Given the description of an element on the screen output the (x, y) to click on. 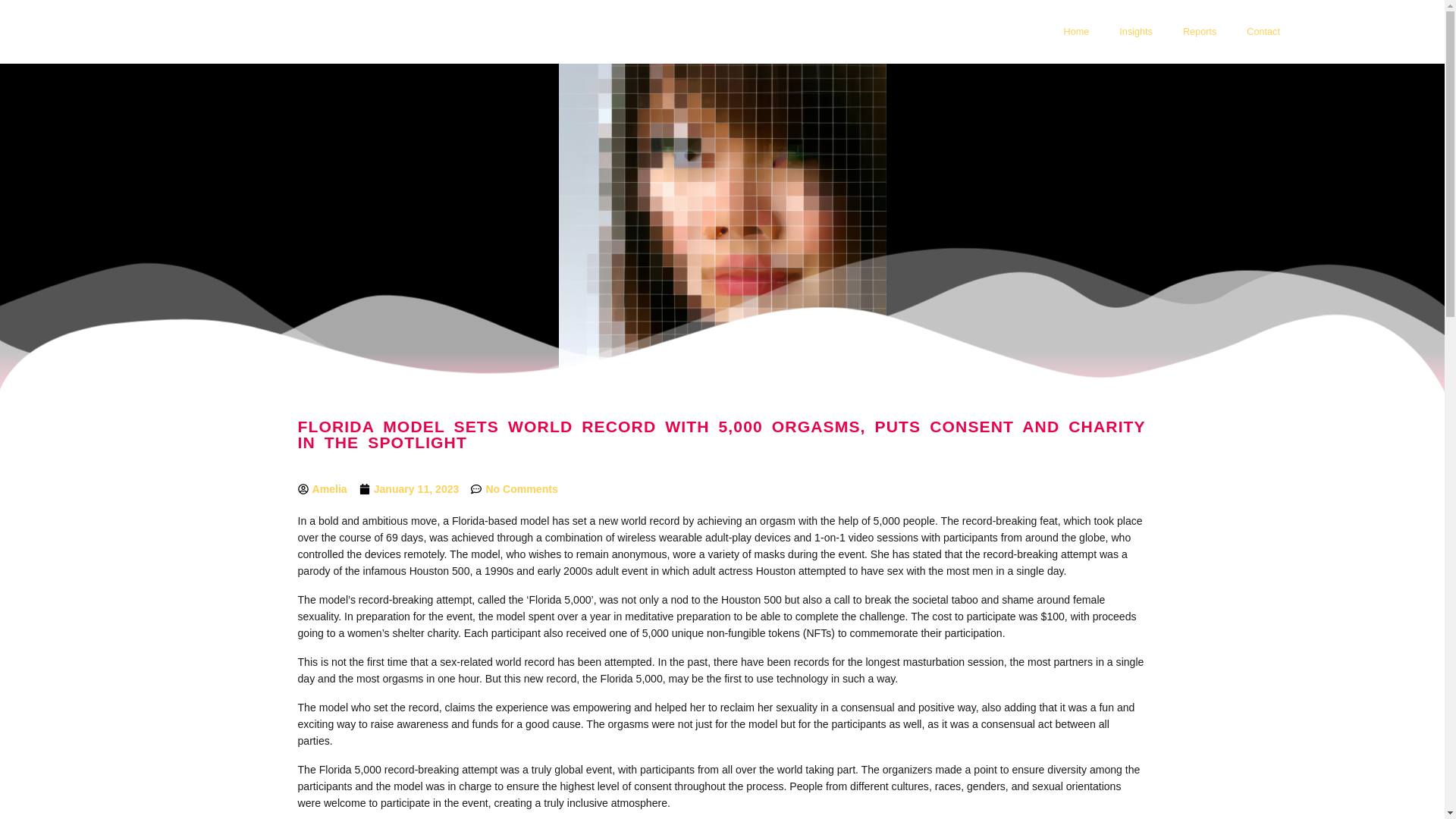
Insights (1135, 31)
Home (1076, 31)
No Comments (513, 488)
Reports (1199, 31)
January 11, 2023 (409, 488)
Amelia (321, 488)
Contact (1263, 31)
